Given the description of an element on the screen output the (x, y) to click on. 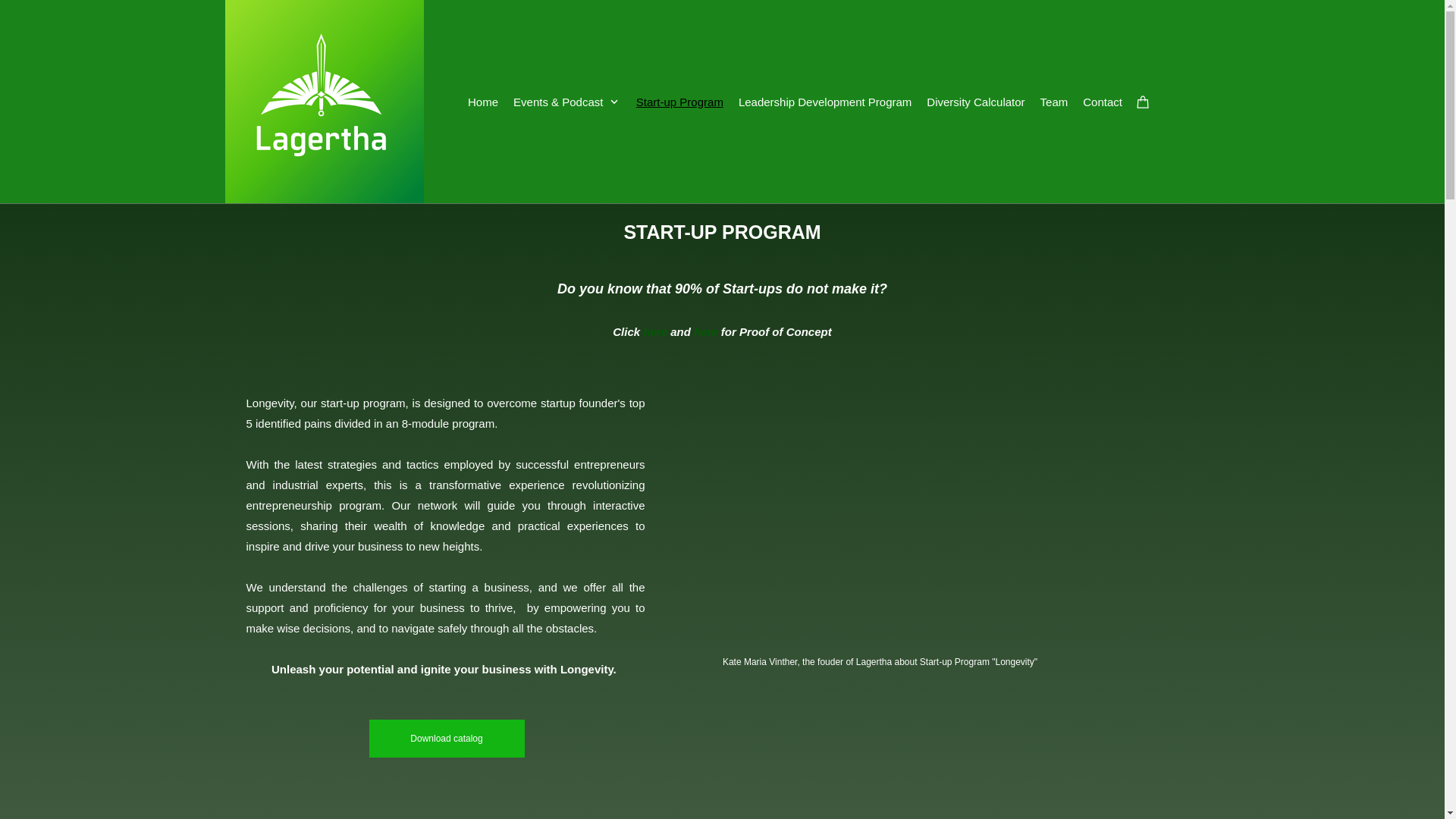
Leadership Development Program (829, 102)
Contact (1106, 102)
here (654, 331)
Team (1058, 102)
Download catalog (446, 738)
Start-up Program (683, 102)
Home (486, 102)
Diversity Calculator (979, 102)
here (705, 331)
